Given the description of an element on the screen output the (x, y) to click on. 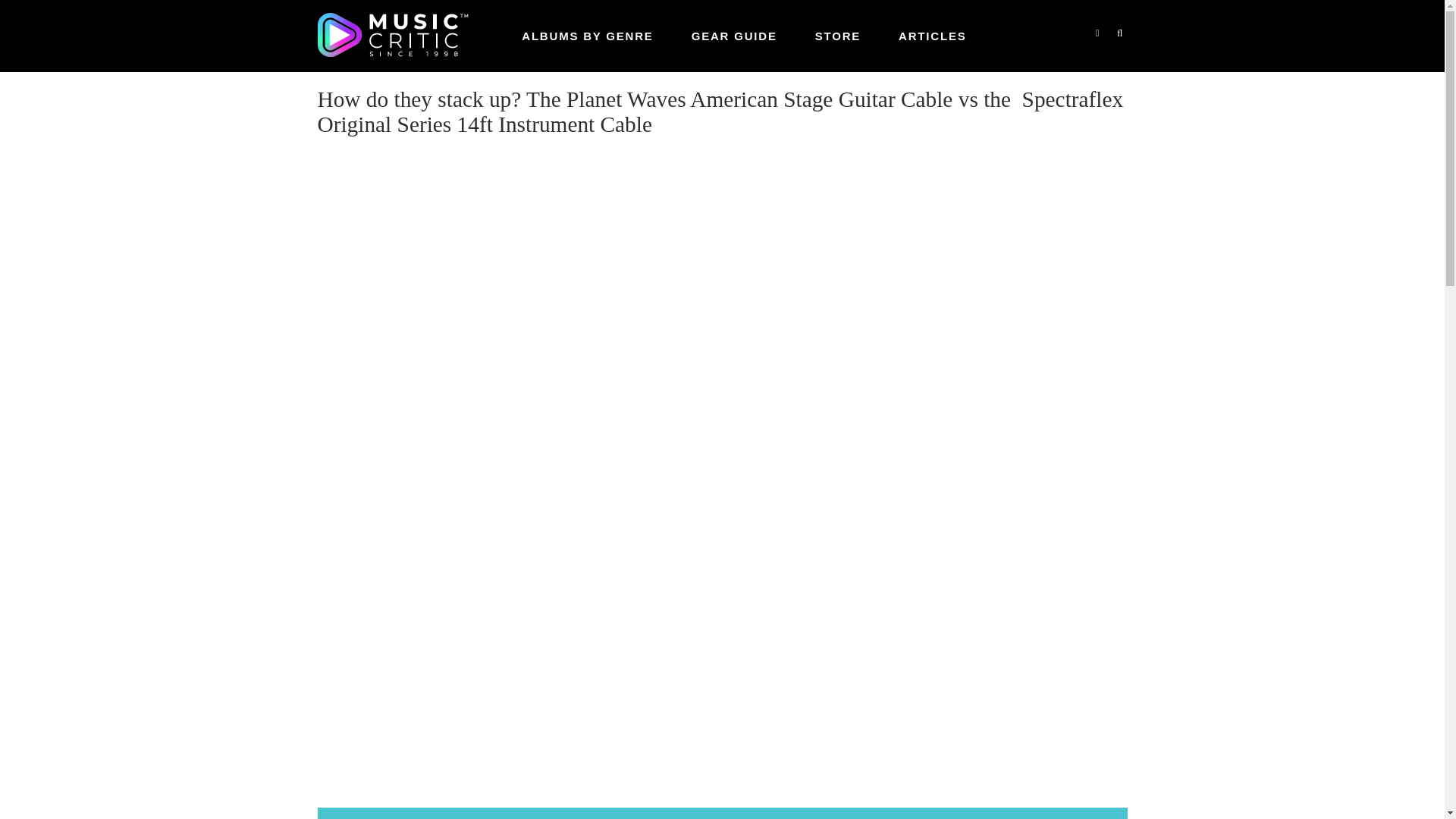
STORE (837, 35)
ARTICLES (932, 35)
GEAR GUIDE (734, 35)
ALBUMS BY GENRE (586, 35)
